Given the description of an element on the screen output the (x, y) to click on. 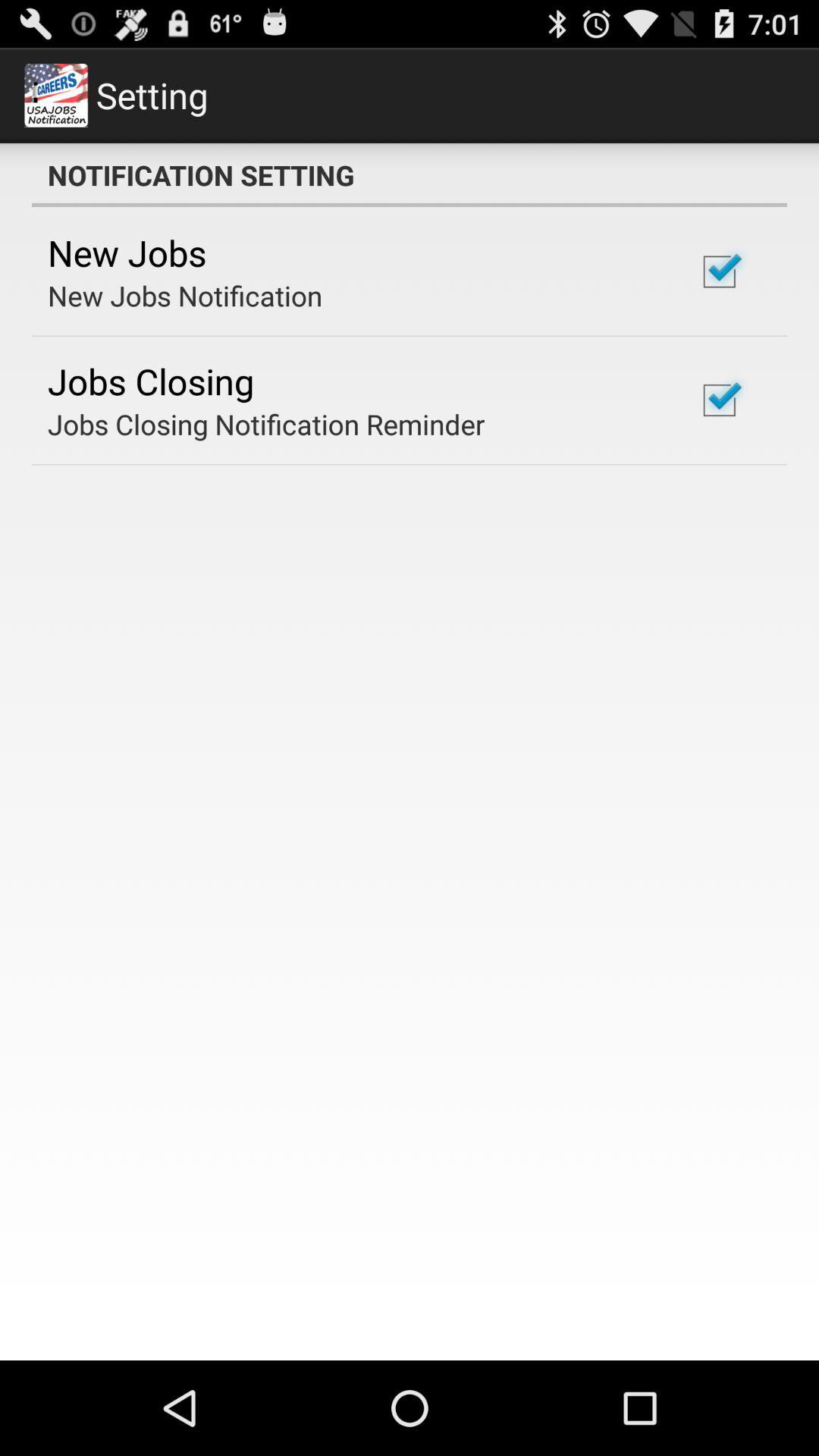
select the icon above the new jobs item (409, 175)
